Given the description of an element on the screen output the (x, y) to click on. 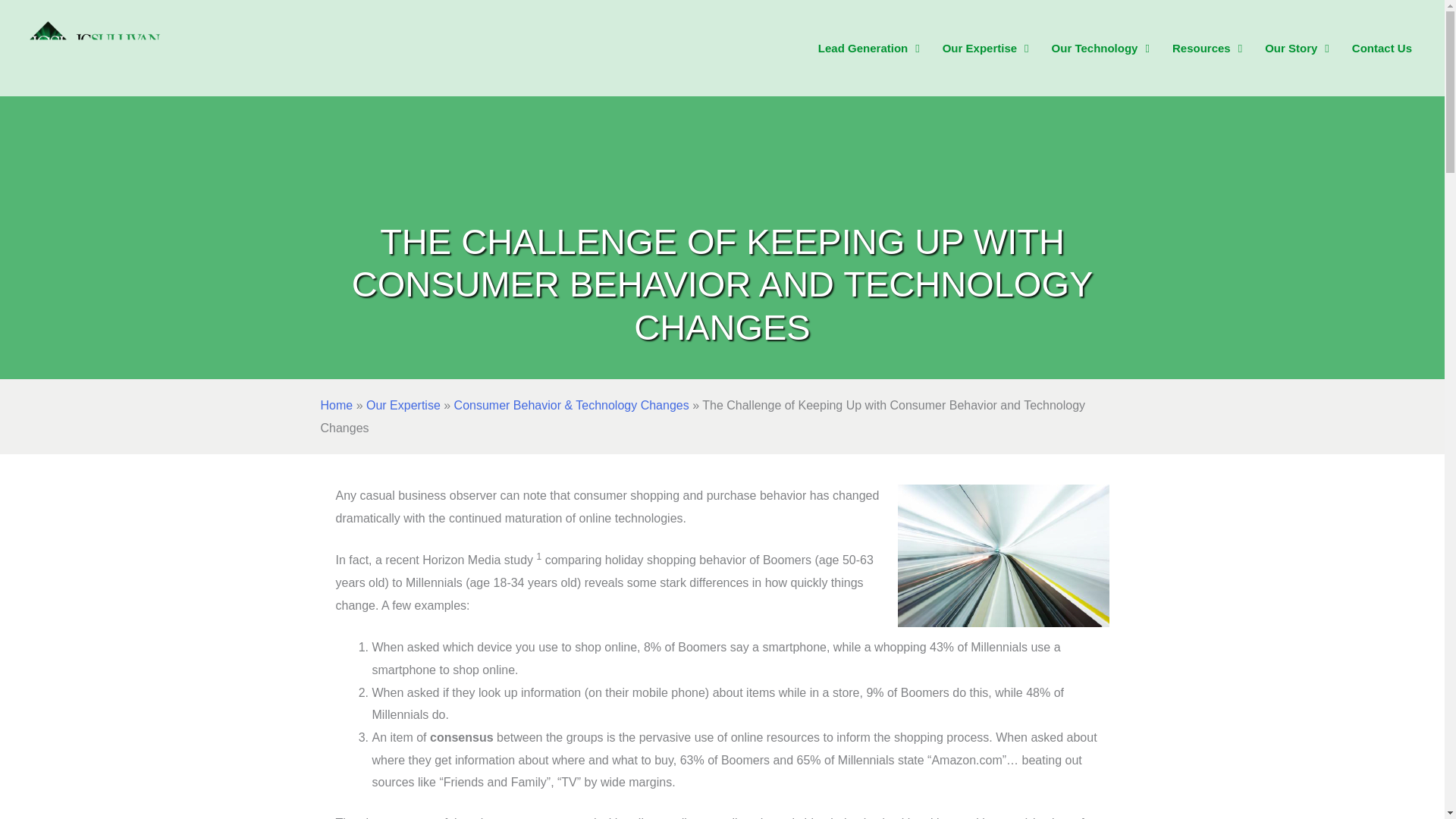
Lead Generation (868, 48)
Our Expertise (985, 48)
JGSullivan Interactive (97, 48)
Our Story (1296, 48)
Our Technology (1100, 48)
Resources (1206, 48)
Contact Us (1381, 48)
